Given the description of an element on the screen output the (x, y) to click on. 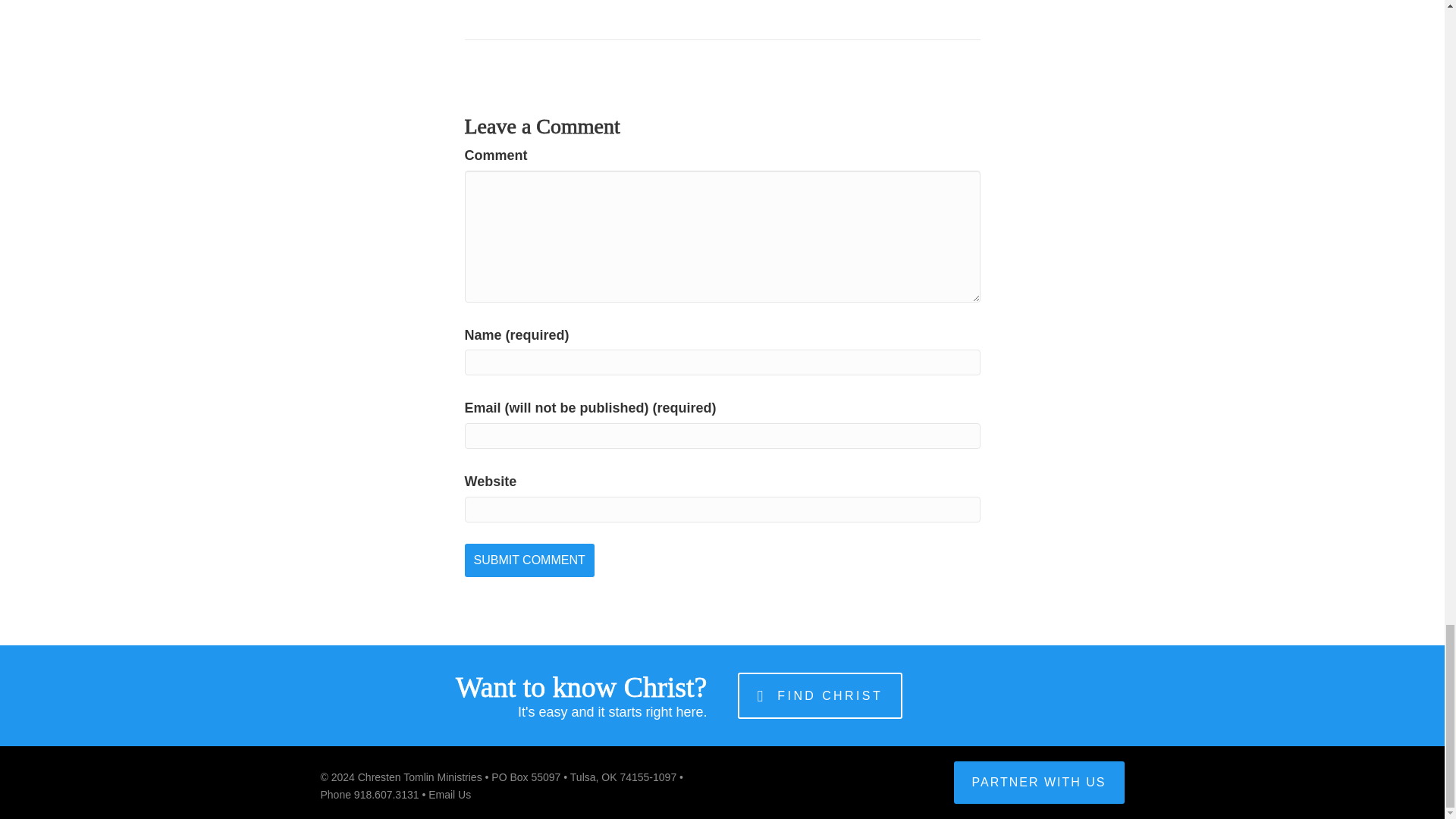
Submit Comment (529, 560)
